Given the description of an element on the screen output the (x, y) to click on. 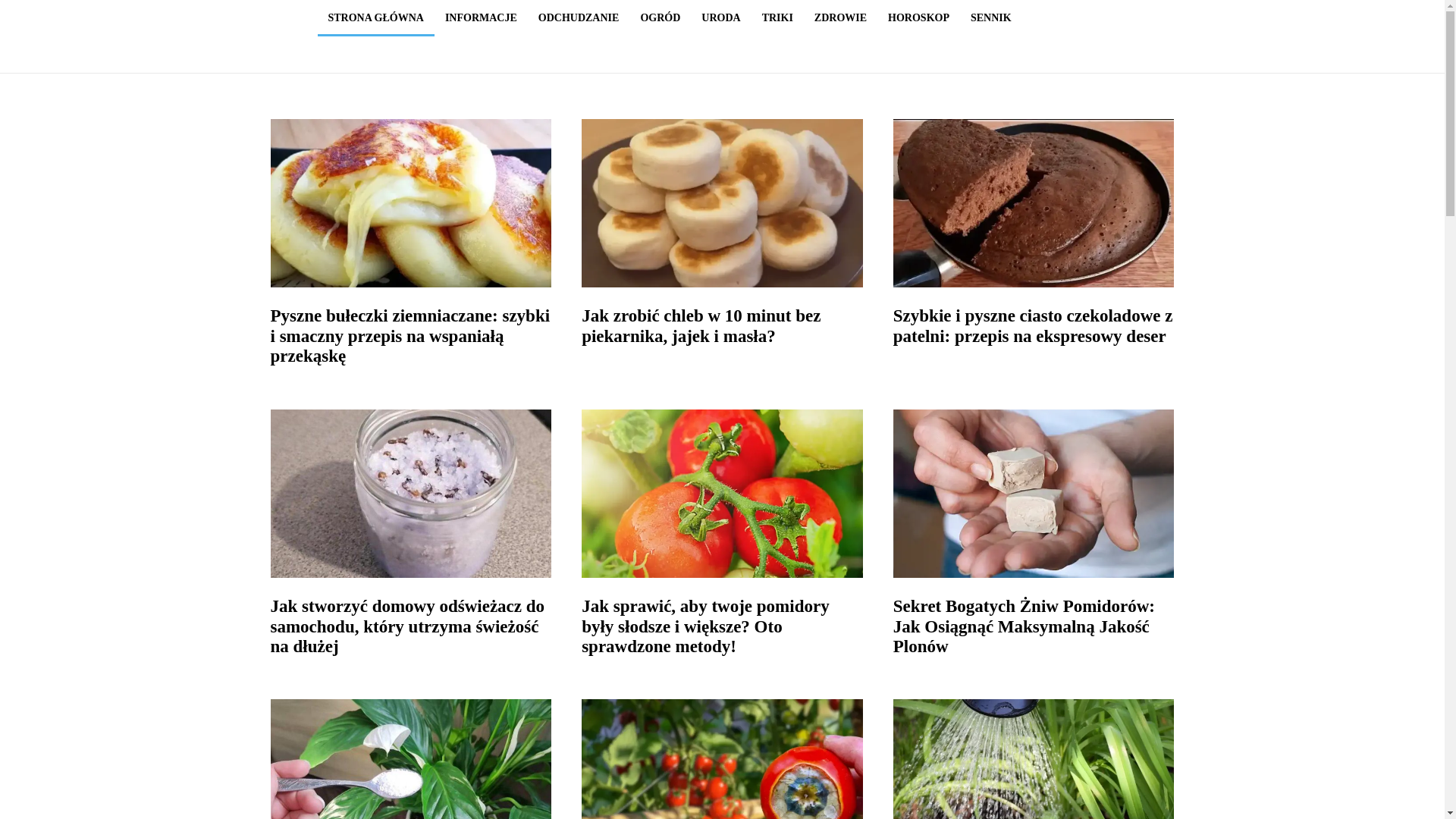
TRIKI (777, 18)
URODA (720, 18)
SENNIK (990, 18)
HOROSKOP (918, 18)
ODCHUDZANIE (578, 18)
INFORMACJE (480, 18)
ZDROWIE (840, 18)
